Given the description of an element on the screen output the (x, y) to click on. 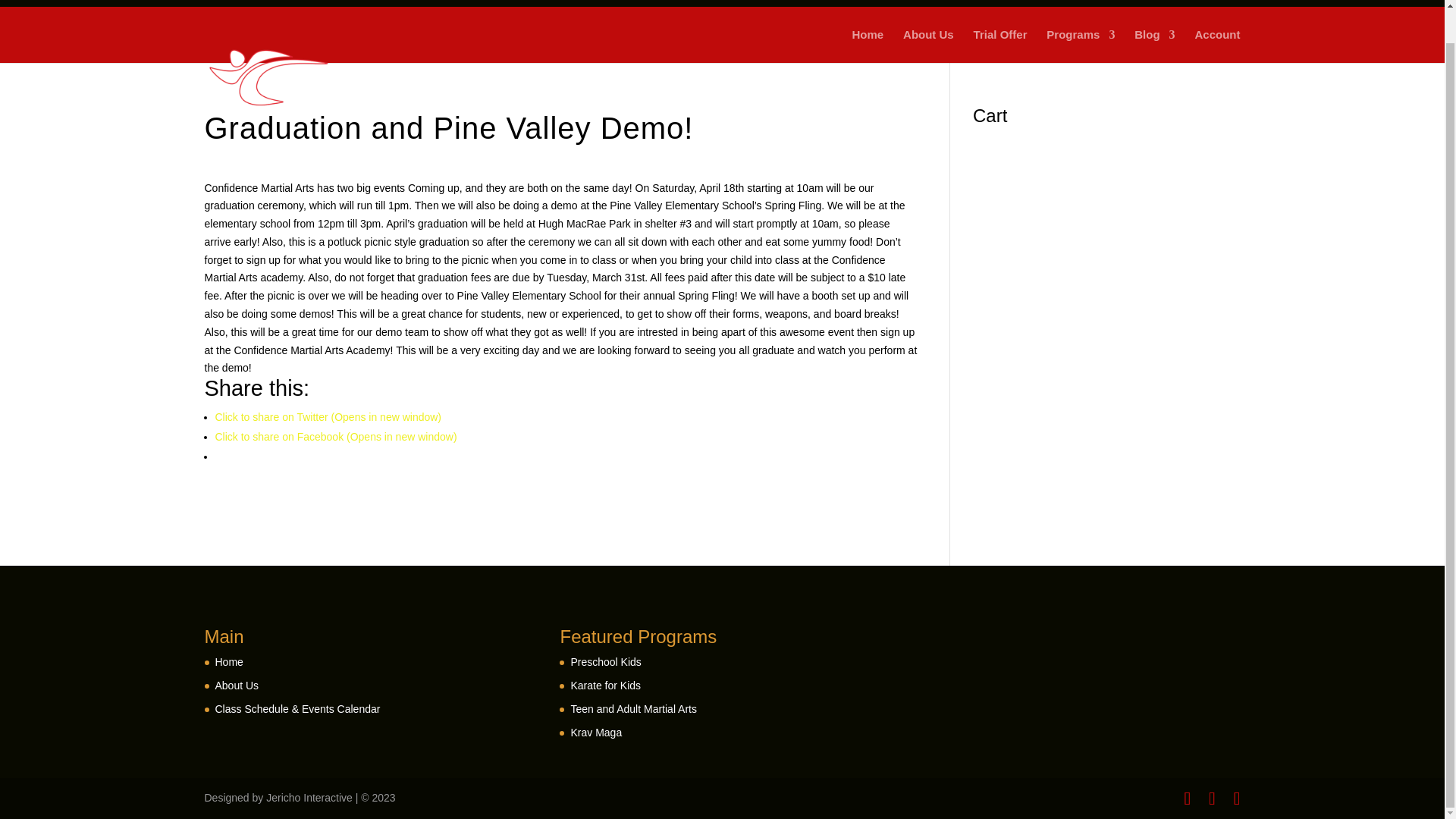
About Us (237, 685)
Blog (1154, 46)
Karate for Kids (605, 685)
Account (1217, 46)
Click to share on Twitter (328, 417)
Krav Maga (595, 732)
Click to share on Facebook (336, 436)
Preschool Kids (605, 662)
Trial Offer (1000, 46)
Teen and Adult Martial Arts (633, 708)
Programs (1080, 46)
About Us (927, 46)
Home (229, 662)
Home (867, 46)
